Given the description of an element on the screen output the (x, y) to click on. 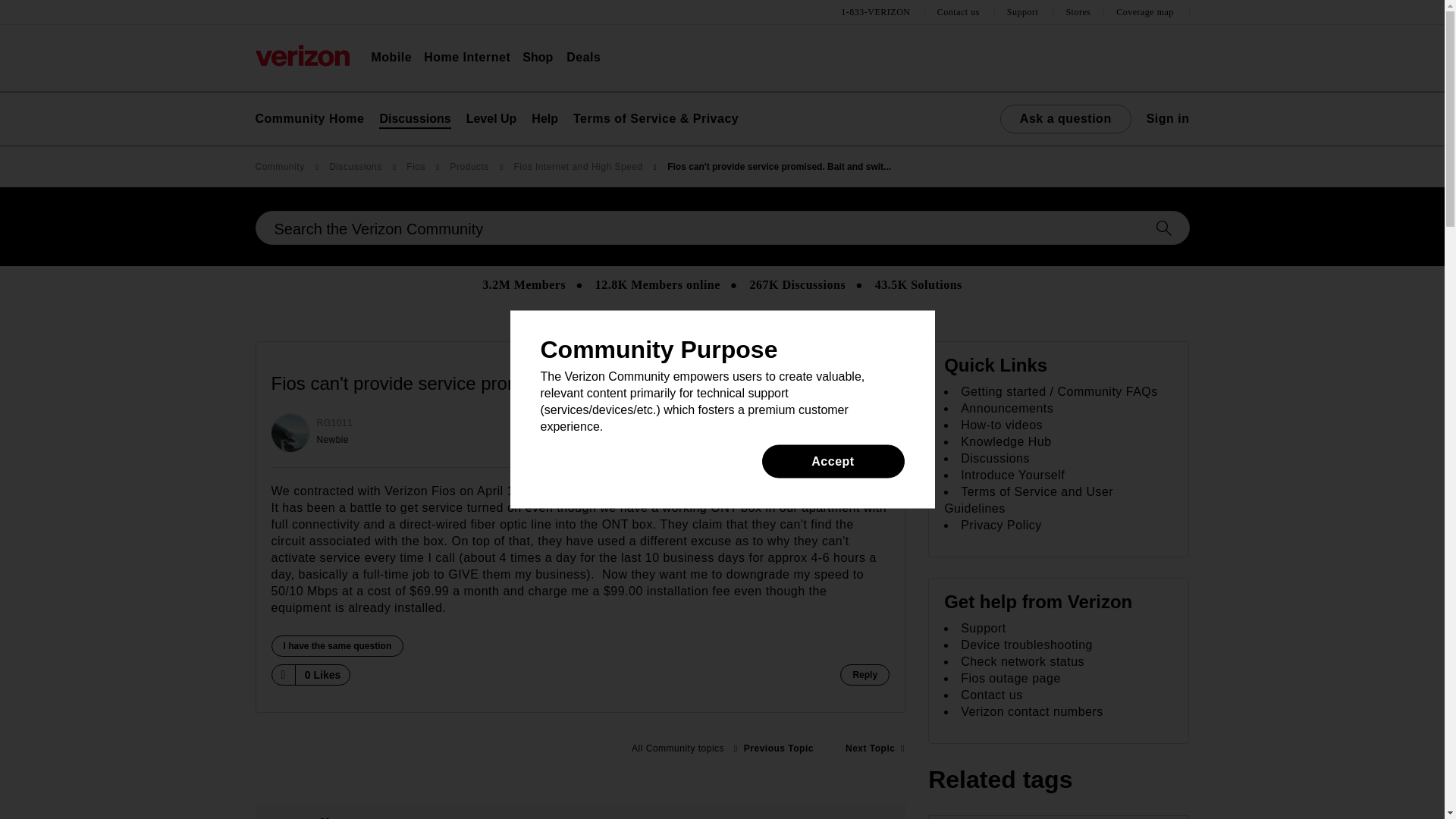
RG1011 (289, 433)
Support (1024, 12)
Click here to give likes to this post. (282, 674)
Cloud media server (773, 748)
Search (721, 227)
Click here if you had a similar experience (337, 645)
The total number of likes this post has received. (322, 674)
Show option menu (874, 383)
Verizon Home Page (301, 55)
Stores (1078, 12)
